Given the description of an element on the screen output the (x, y) to click on. 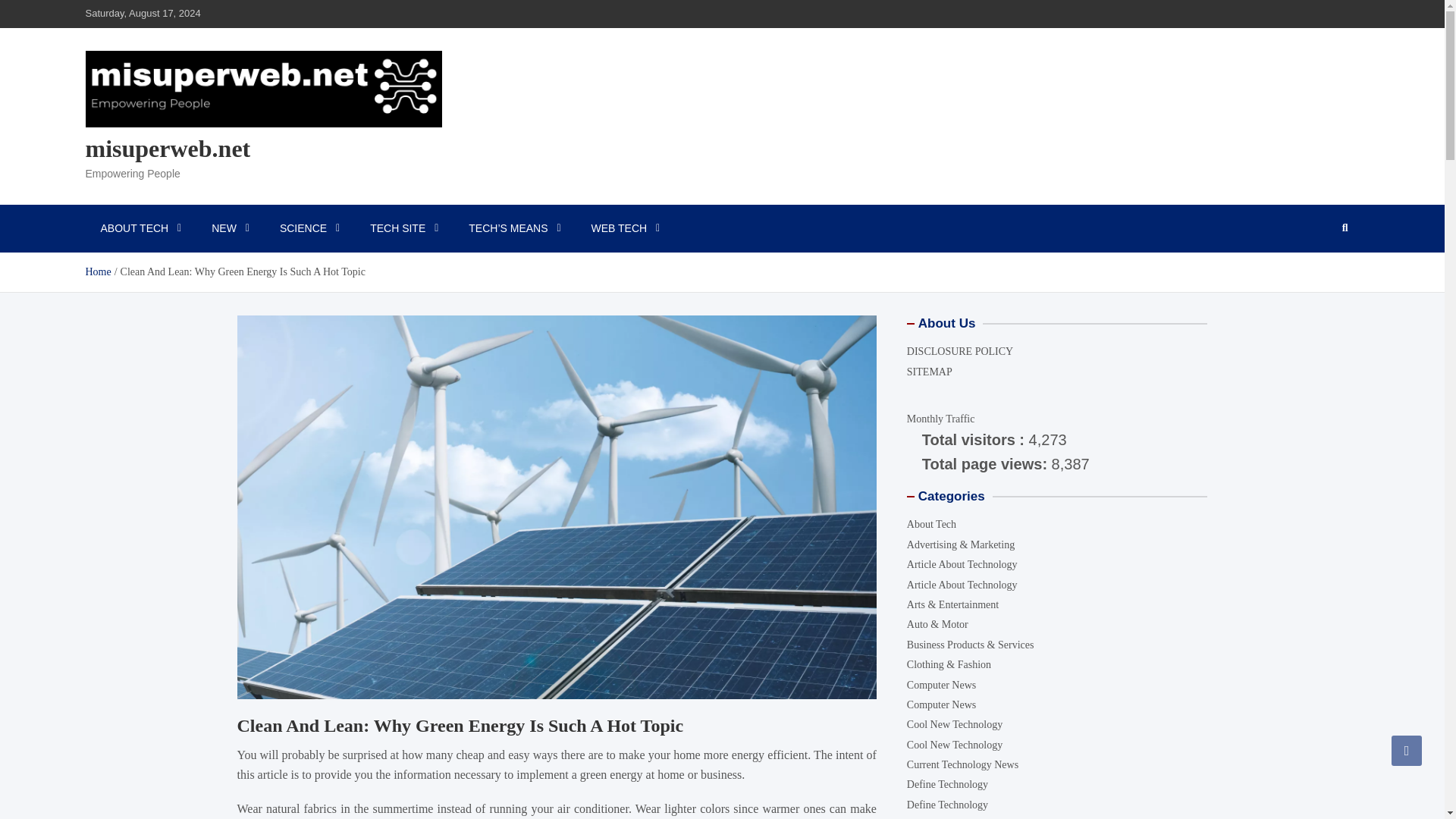
SCIENCE (309, 227)
TECH SITE (403, 227)
ABOUT TECH (140, 227)
Home (97, 271)
WEB TECH (625, 227)
NEW (230, 227)
misuperweb.net (167, 148)
Go to Top (1406, 750)
